Given the description of an element on the screen output the (x, y) to click on. 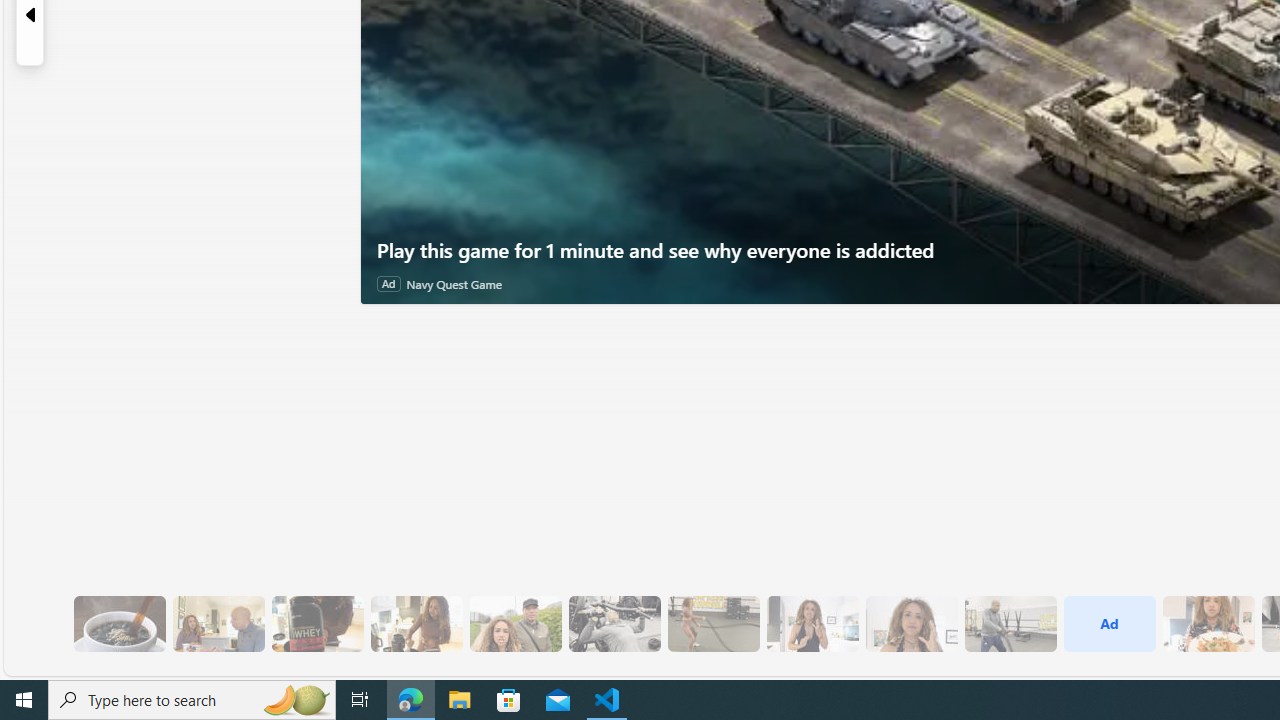
11 They Eat More Protein for Breakfast (811, 624)
6 Since Eating More Protein Her Training Has Improved (317, 624)
14 They Have Salmon and Veggies for Dinner (1208, 624)
10 Then, They Do HIIT Cardio (713, 624)
10 Then, They Do HIIT Cardio (713, 624)
8 Be Mindful of Coffee (119, 624)
6 Since Eating More Protein Her Training Has Improved (317, 624)
8 They Walk to the Gym (514, 624)
5 She Eats Less Than Her Husband (217, 624)
9 They Do Bench Exercises (614, 624)
Navy Quest Game (454, 283)
13 Her Husband Does Group Cardio Classs (1010, 624)
7 They Don't Skip Meals (416, 624)
